Given the description of an element on the screen output the (x, y) to click on. 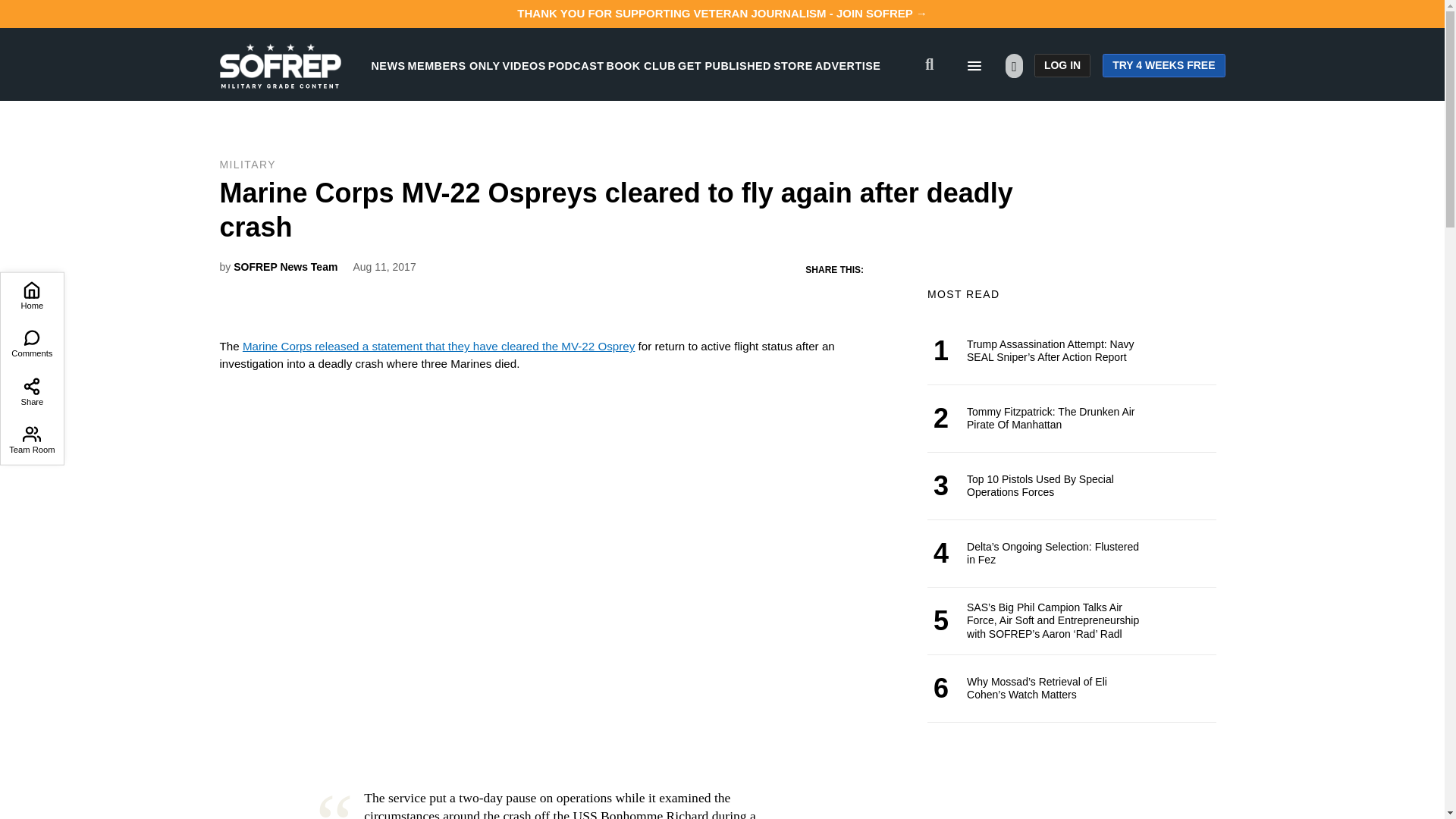
TRY 4 WEEKS FREE (1163, 65)
VIDEOS (524, 65)
PODCAST (576, 65)
ADVERTISE (847, 65)
GET PUBLISHED (724, 65)
BOOK CLUB (641, 65)
LOG IN (1061, 65)
NEWS (388, 65)
MEMBERS ONLY (453, 65)
STORE (792, 65)
